Given the description of an element on the screen output the (x, y) to click on. 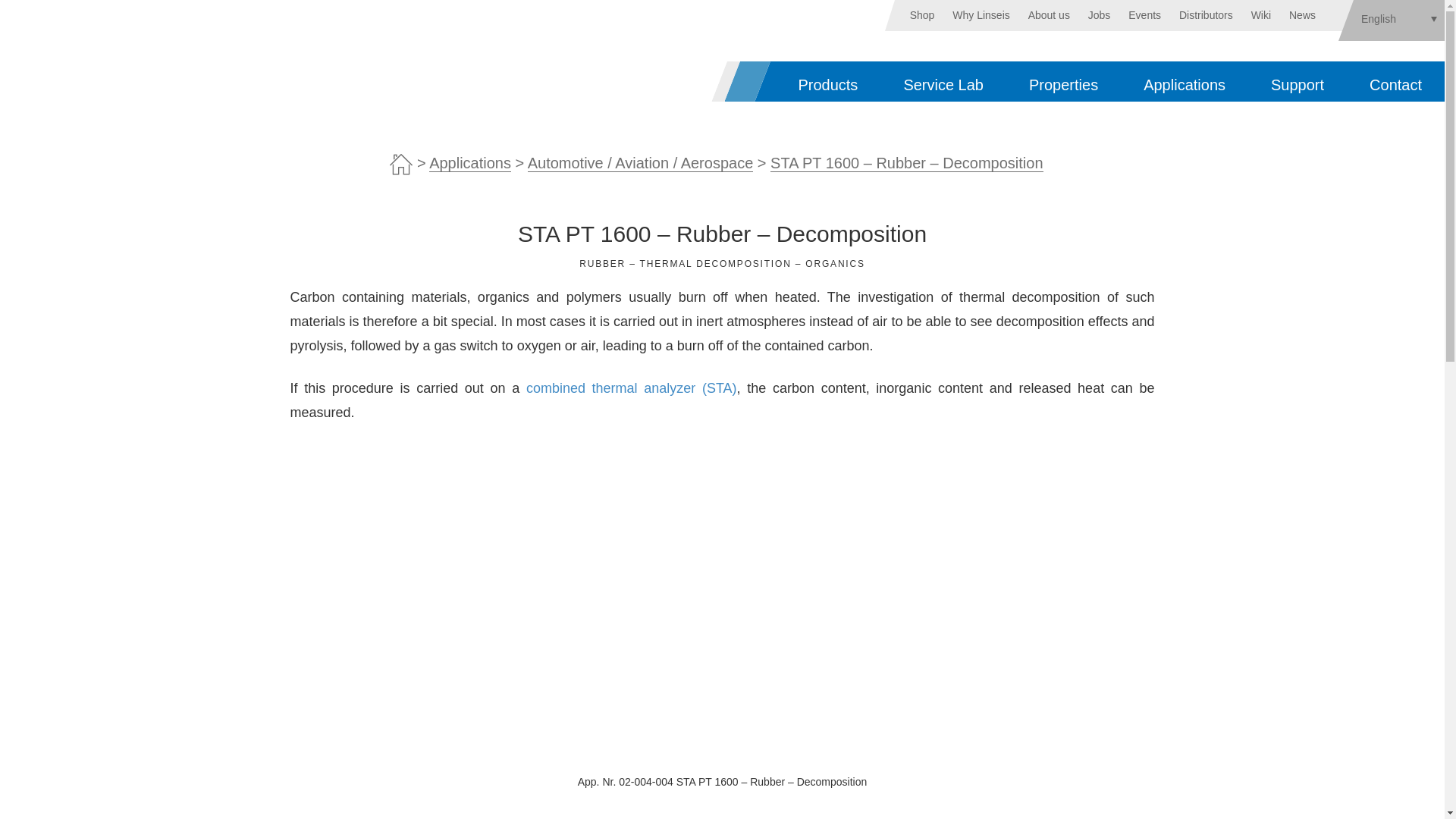
Events (1144, 15)
Shop (922, 15)
Products (827, 81)
Gehe zu Applications. (470, 162)
About us (1048, 15)
Jobs (1098, 15)
Why Linseis (980, 15)
Wiki (1260, 15)
Distributors (1206, 15)
News (1302, 15)
